Given the description of an element on the screen output the (x, y) to click on. 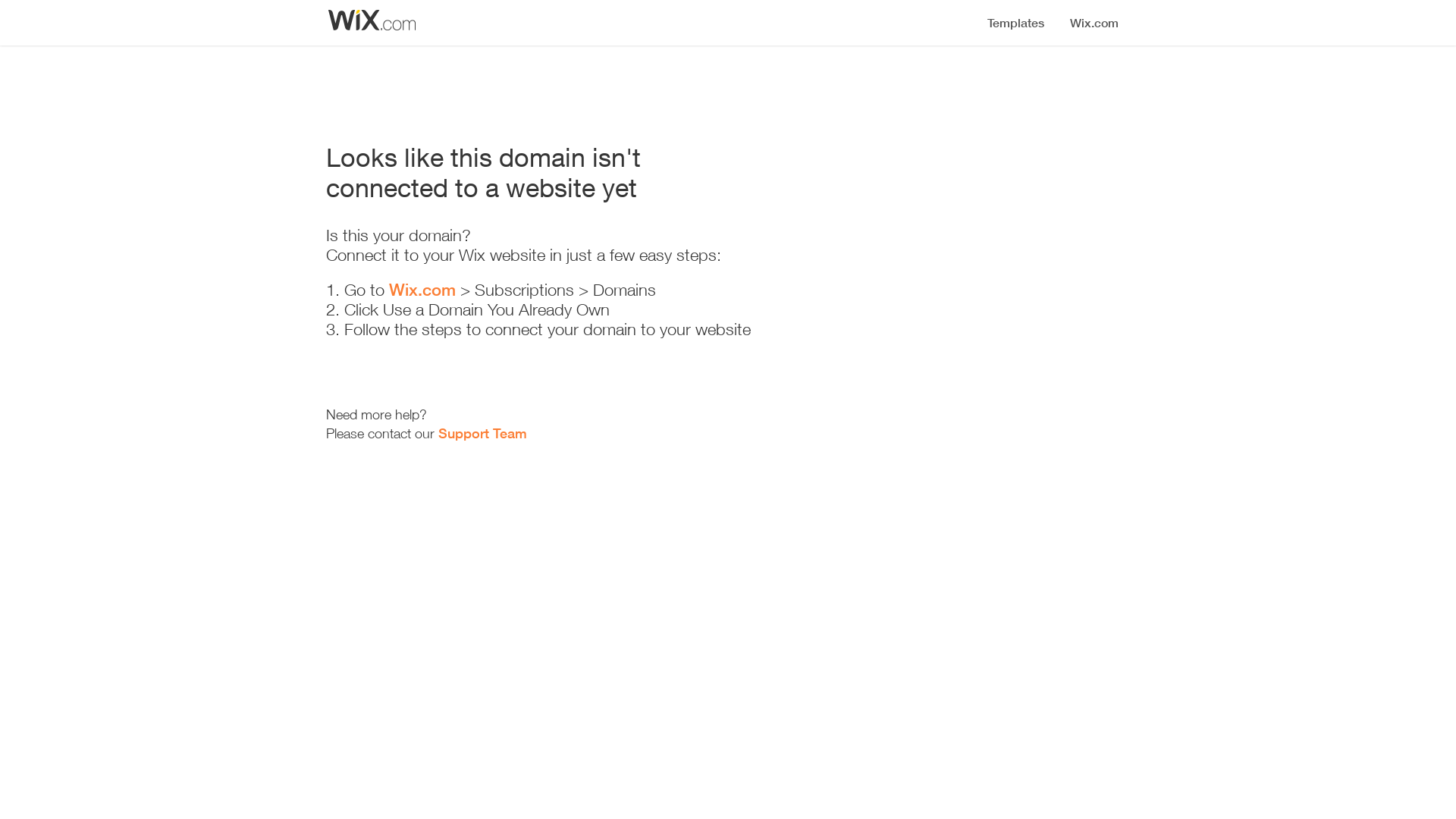
Wix.com Element type: text (422, 289)
Support Team Element type: text (482, 432)
